Given the description of an element on the screen output the (x, y) to click on. 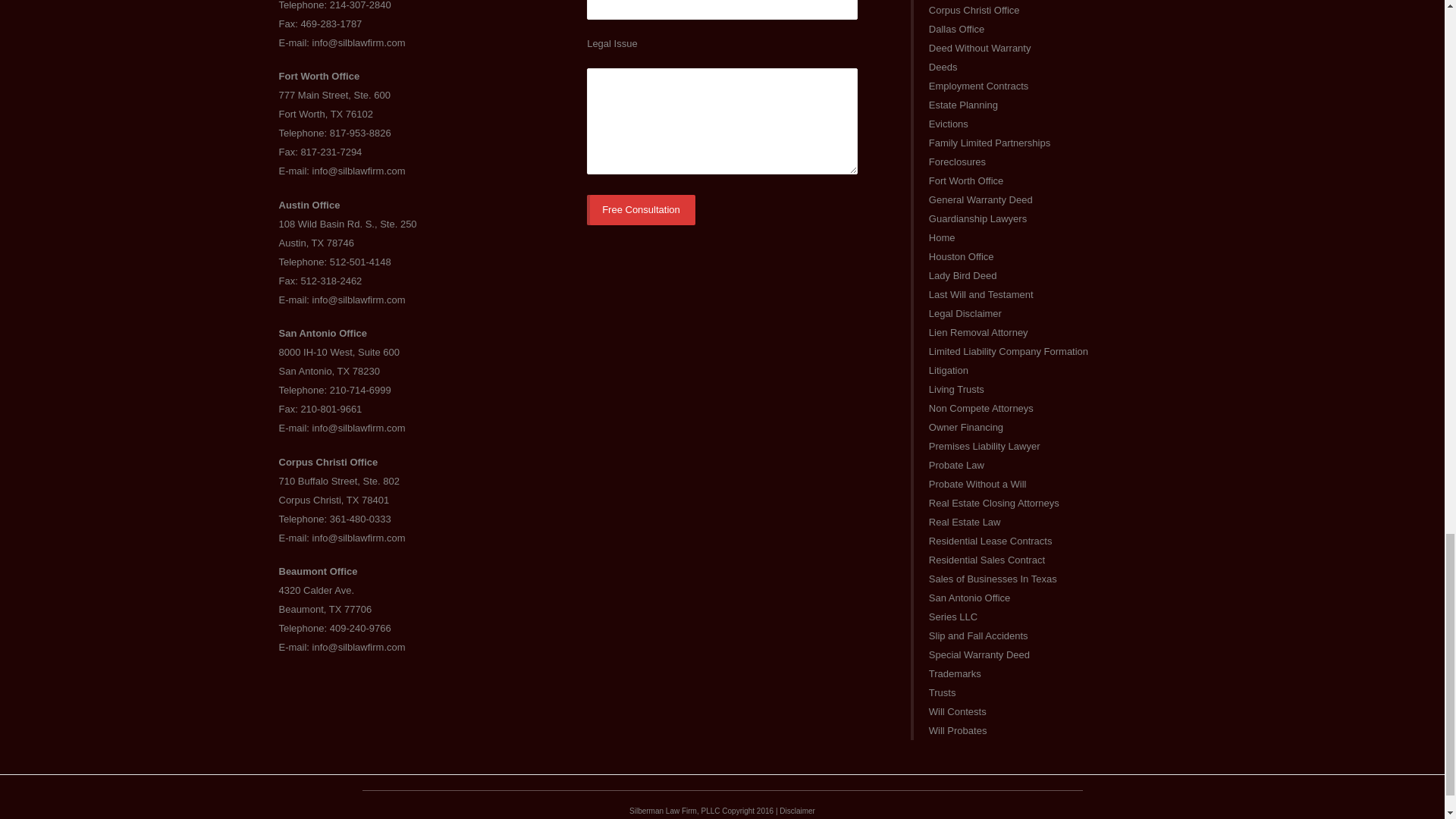
Free Consultation (640, 209)
